Given the description of an element on the screen output the (x, y) to click on. 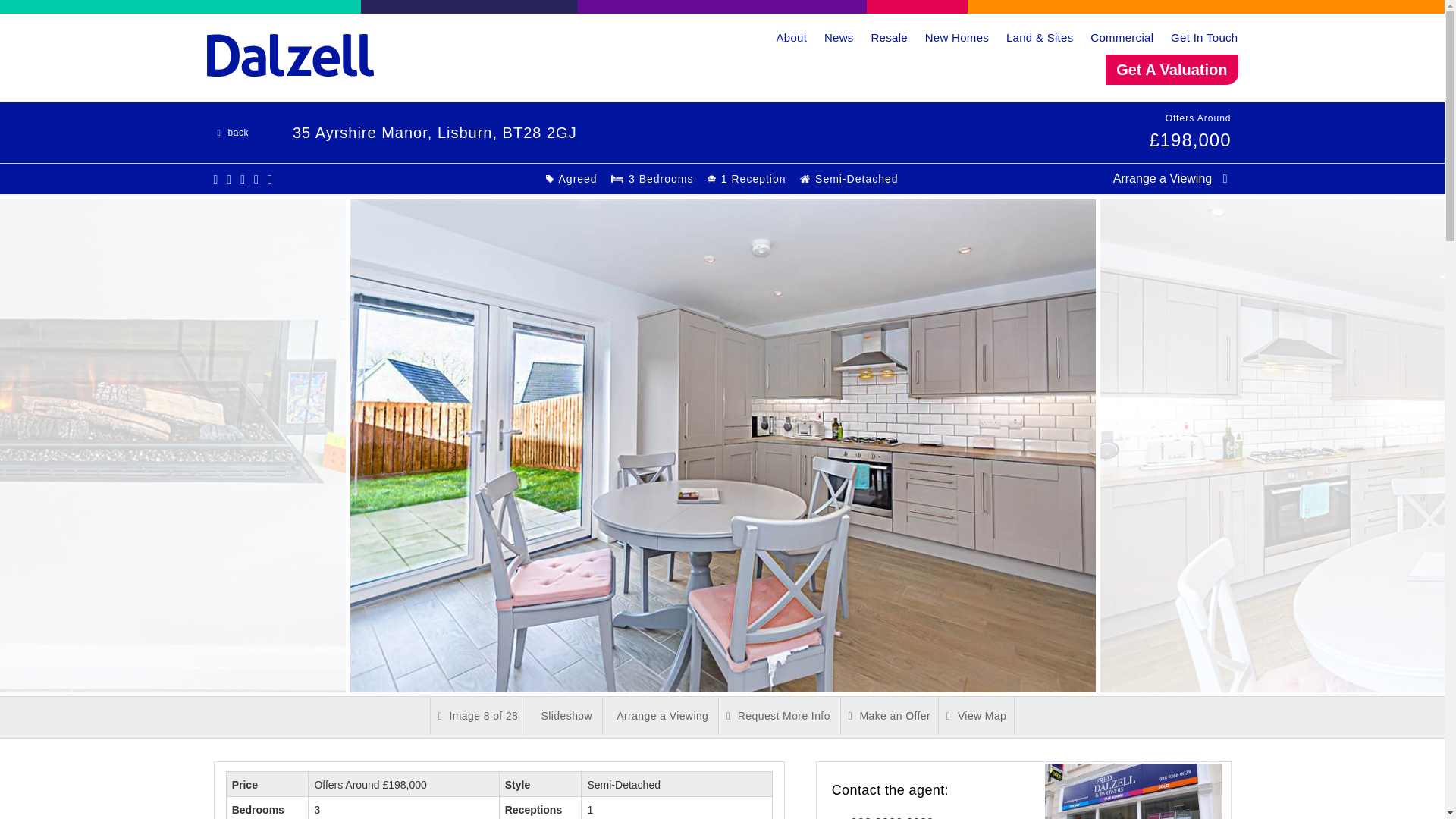
About (791, 37)
back (231, 132)
Get In Touch (1203, 37)
New Homes (956, 37)
Resale (888, 37)
Arrange a Viewing (1172, 178)
Get A Valuation (1171, 69)
Commercial (1121, 37)
News (838, 37)
